Given the description of an element on the screen output the (x, y) to click on. 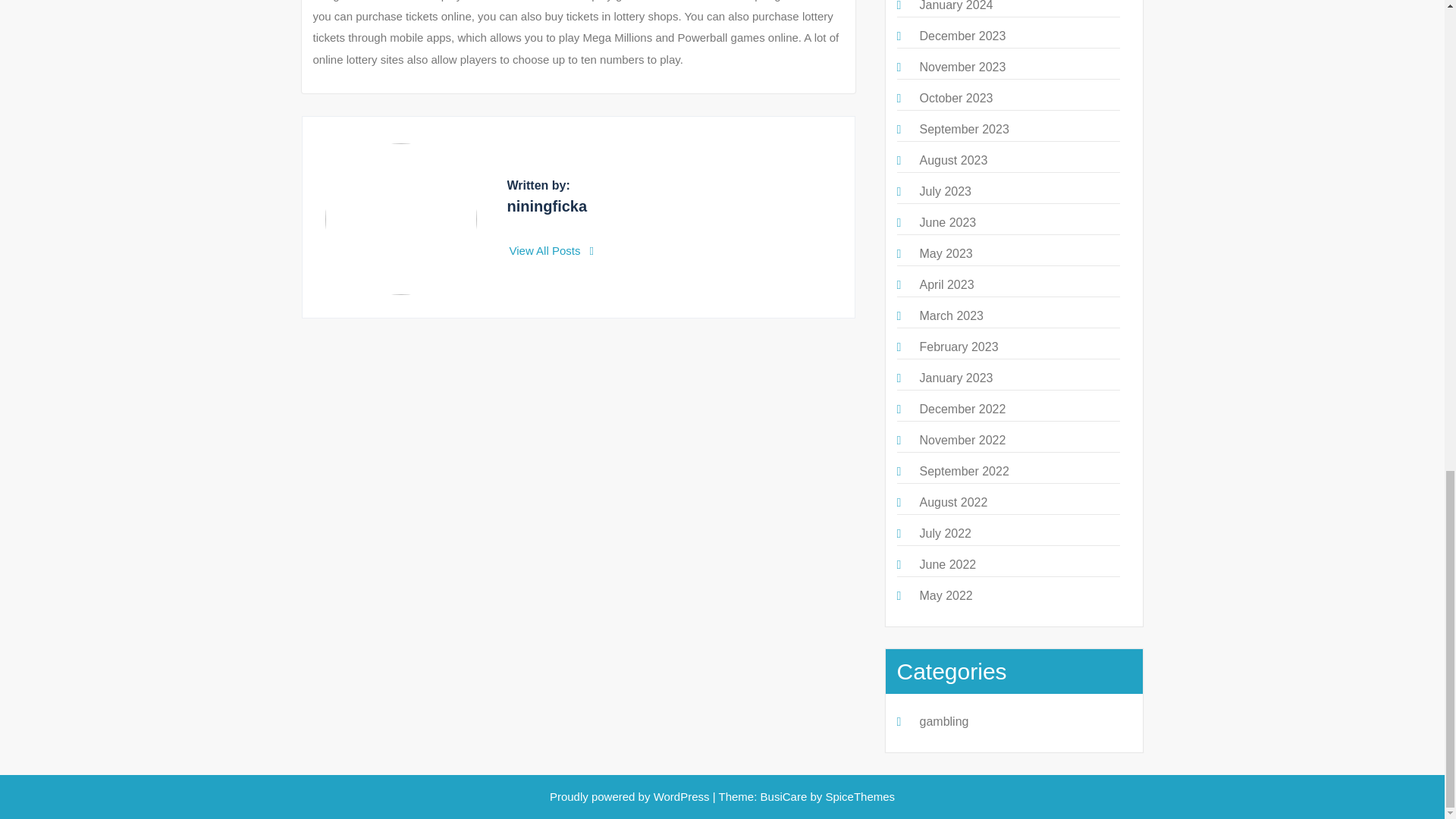
January 2024 (955, 5)
March 2023 (951, 315)
November 2022 (962, 440)
July 2022 (944, 533)
January 2023 (955, 377)
May 2023 (945, 253)
December 2022 (962, 408)
June 2022 (946, 563)
July 2023 (944, 191)
September 2022 (963, 471)
August 2022 (952, 502)
August 2023 (952, 160)
October 2023 (955, 97)
June 2023 (946, 222)
November 2023 (962, 66)
